Given the description of an element on the screen output the (x, y) to click on. 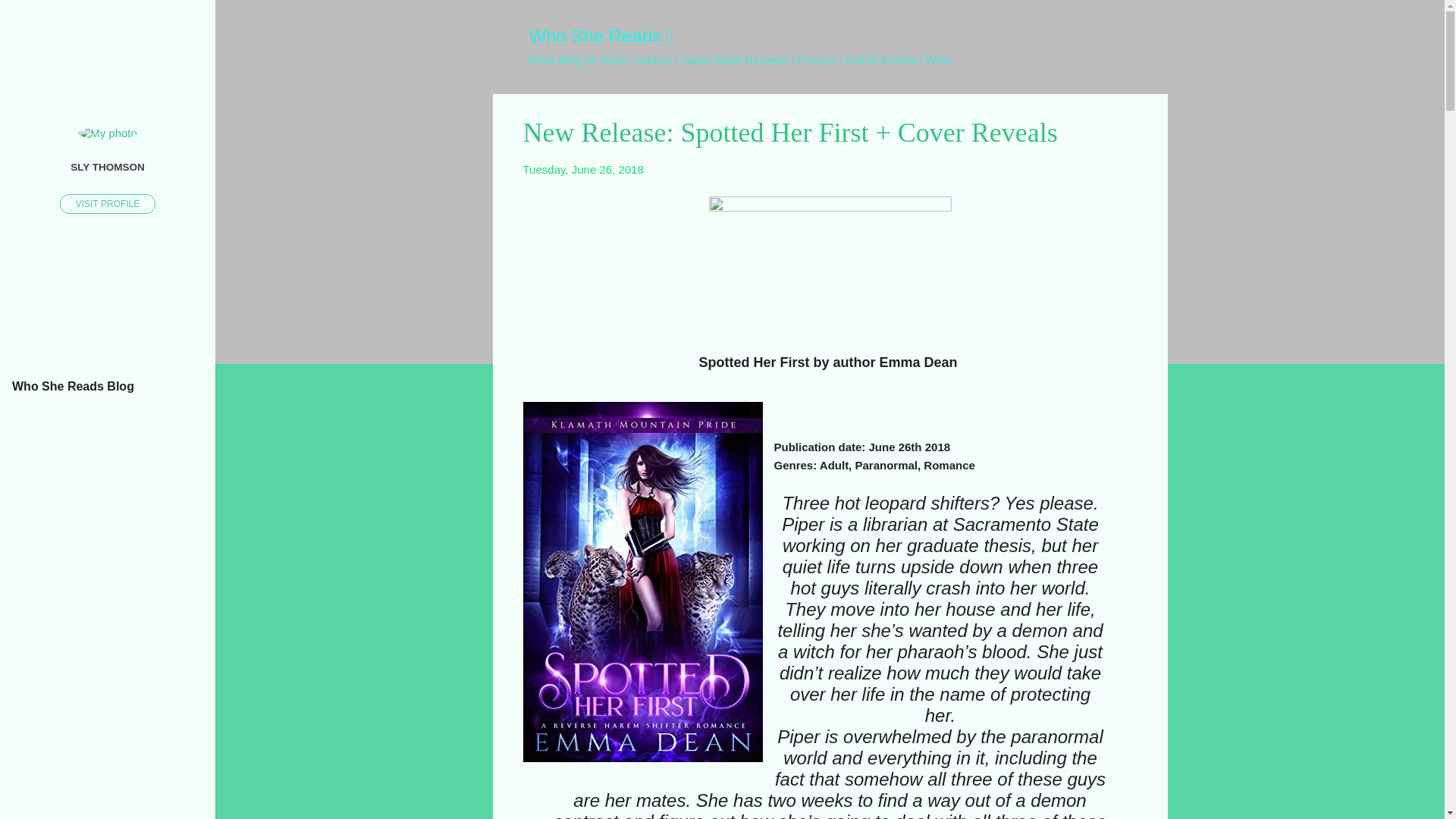
Search (29, 18)
permanent link (582, 169)
Tuesday, June 26, 2018 (582, 169)
